Given the description of an element on the screen output the (x, y) to click on. 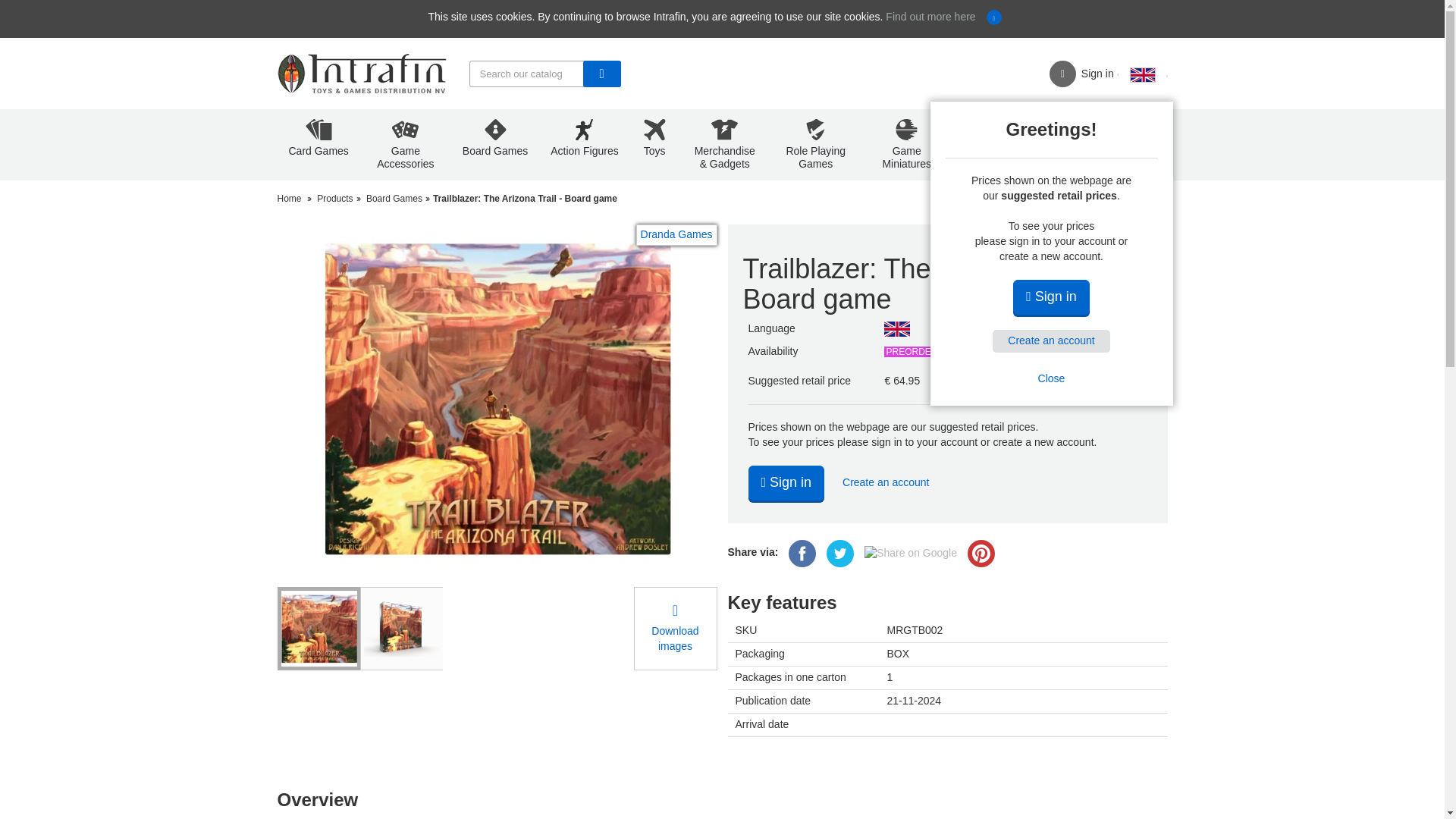
Card Games (318, 144)
Trailblazer: The Arizona Trail - Board game (400, 628)
Board Games (394, 198)
Products (334, 198)
Trailblazer: The Arizona Trail - Board game (318, 628)
Board Games (494, 144)
All products (1118, 144)
Trailblazer: The Arizona Trail - Board game (319, 628)
Trailblazer: The Arizona Trail - Board game (401, 628)
Close (1051, 378)
